Given the description of an element on the screen output the (x, y) to click on. 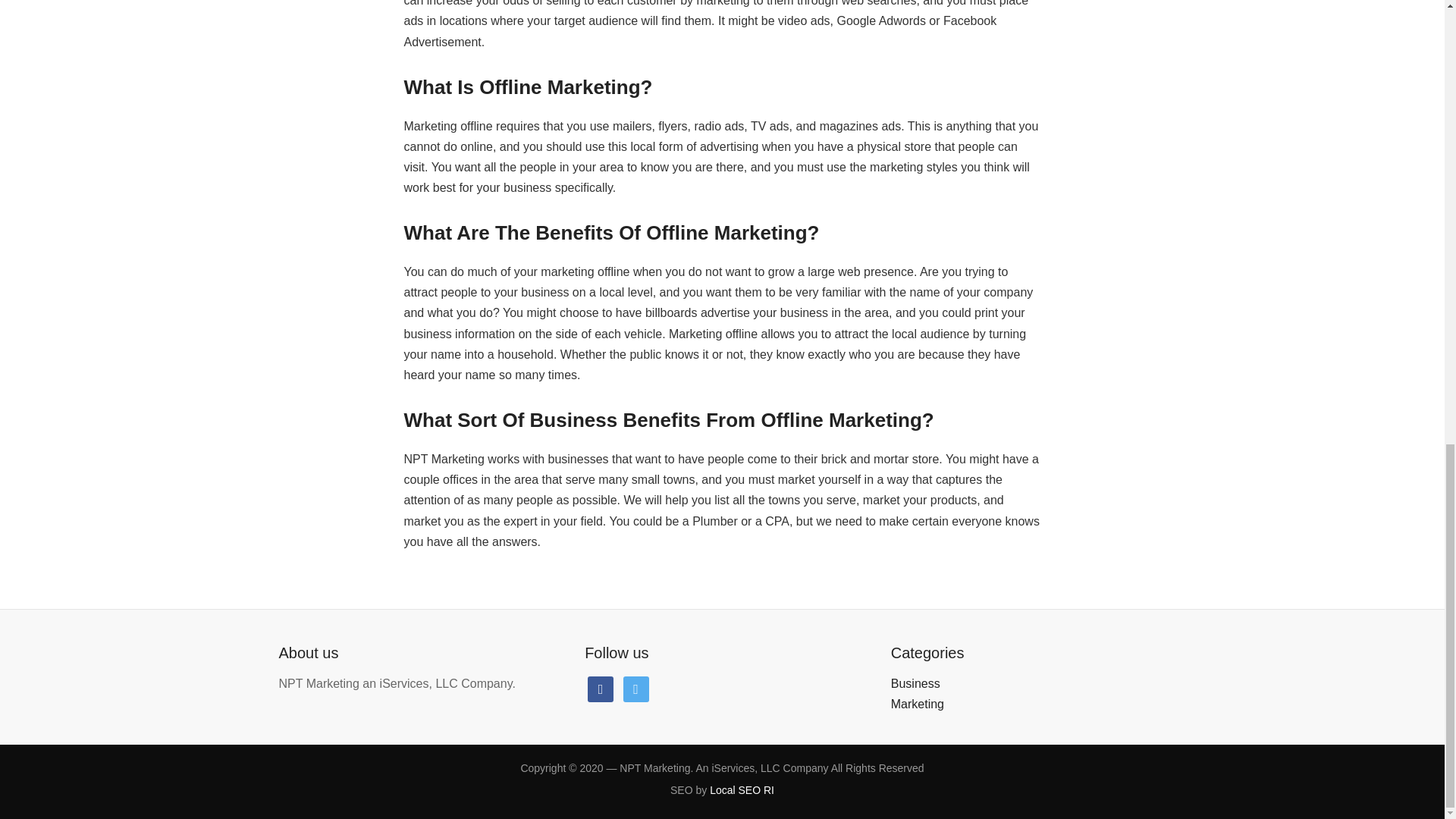
Facebook (600, 687)
Marketing (917, 703)
facebook (600, 687)
twitter (636, 687)
Local SEO RI (742, 789)
Twitter (636, 687)
Business (915, 683)
